Given the description of an element on the screen output the (x, y) to click on. 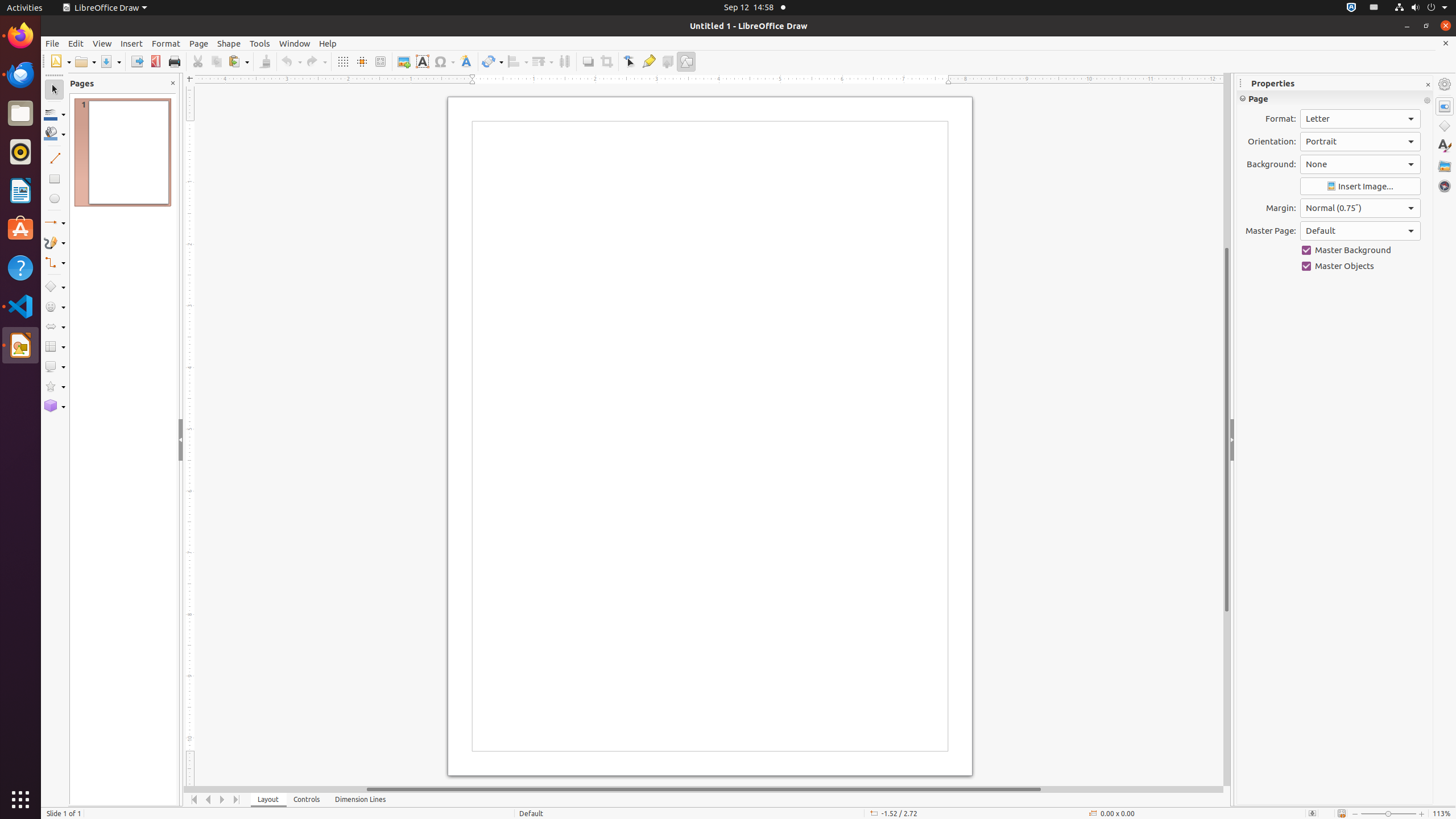
Horizontal Ruler Element type: ruler (703, 79)
Window Element type: menu (294, 43)
Arrange Element type: push-button (542, 61)
Zoom & Pan Element type: push-button (379, 61)
Fontwork Style Element type: toggle-button (465, 61)
